Given the description of an element on the screen output the (x, y) to click on. 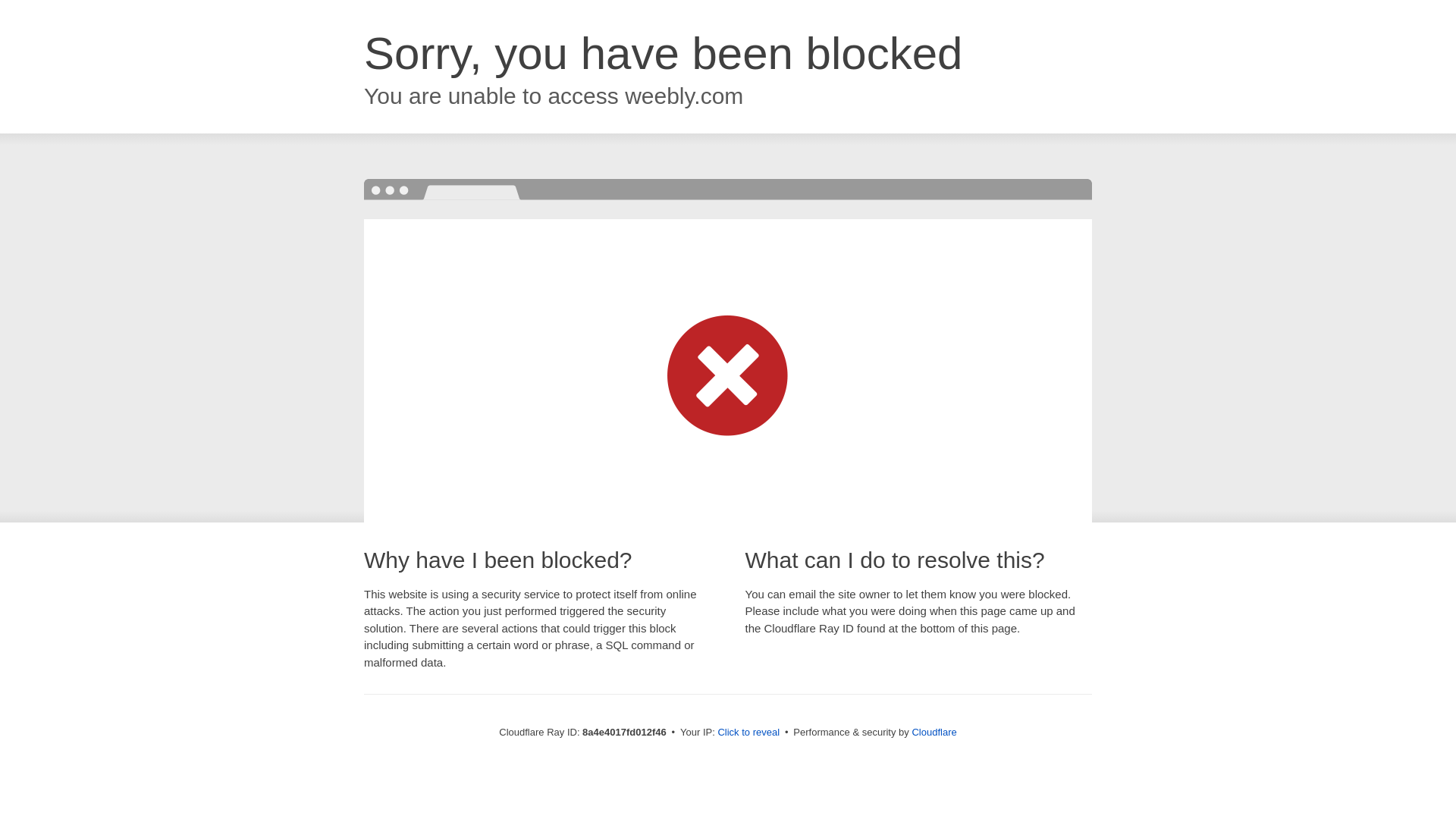
Cloudflare (933, 731)
Click to reveal (747, 732)
